Given the description of an element on the screen output the (x, y) to click on. 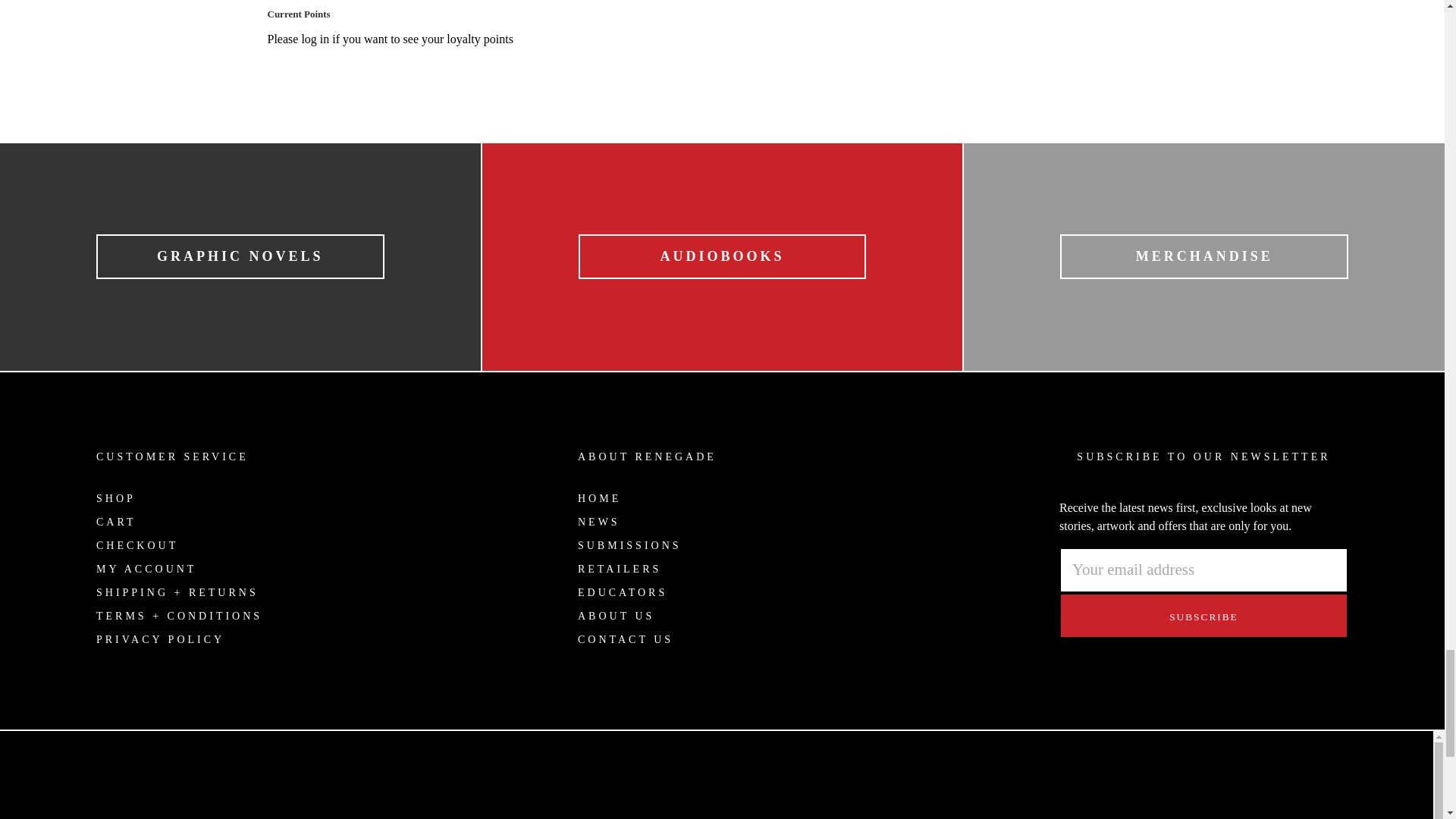
Subscribe (1203, 615)
